Given the description of an element on the screen output the (x, y) to click on. 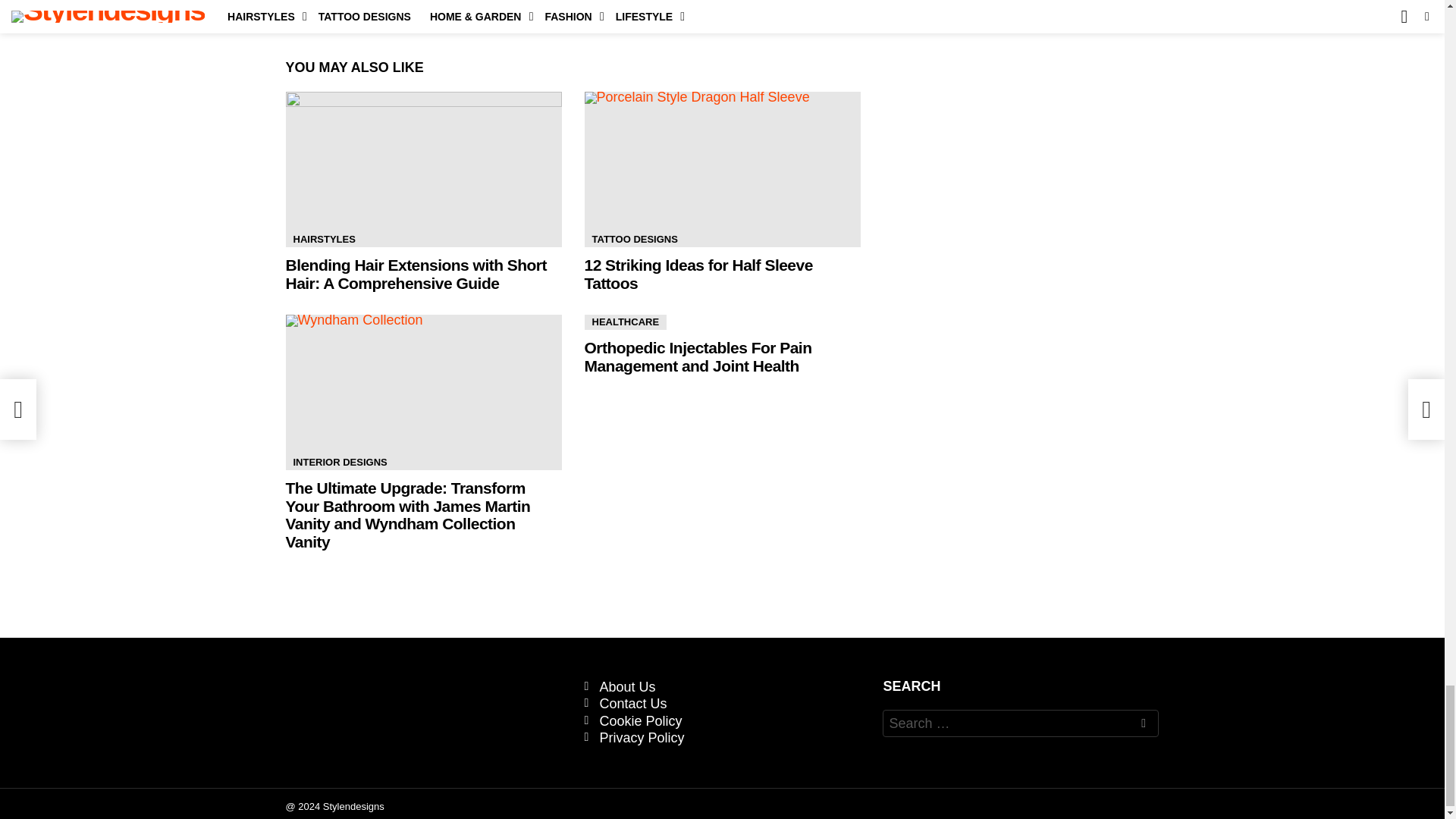
12 Striking Ideas for Half Sleeve Tattoos (721, 169)
